Given the description of an element on the screen output the (x, y) to click on. 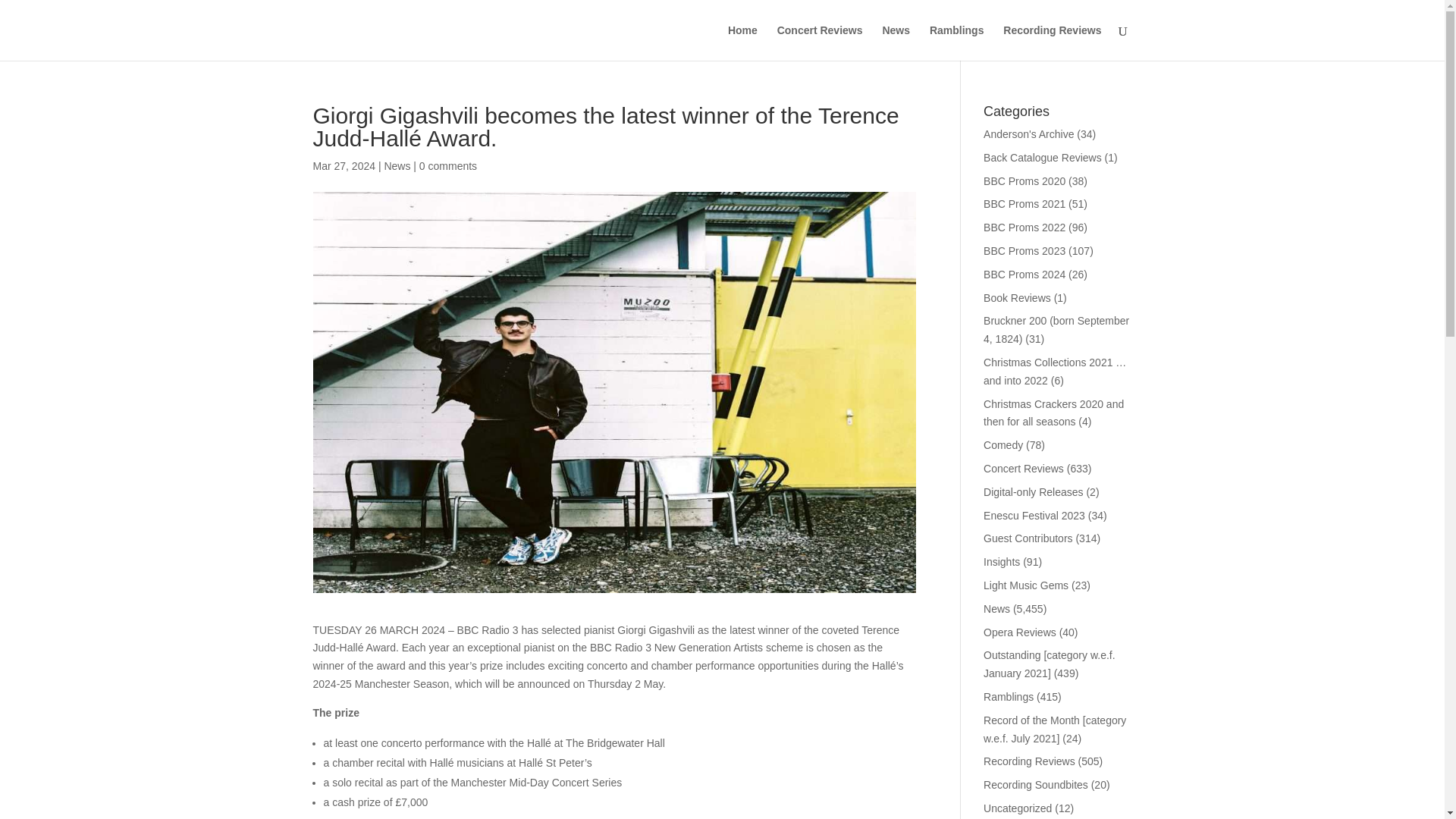
Guest Contributors (1028, 538)
Christmas Crackers 2020 and then for all seasons (1054, 413)
Concert Reviews (1024, 468)
Comedy (1003, 444)
BBC Proms 2024 (1024, 274)
Recording Soundbites (1035, 784)
BBC Proms 2023 (1024, 250)
Book Reviews (1017, 297)
BBC Proms 2020 (1024, 181)
Ramblings (957, 42)
News (397, 165)
Opera Reviews (1020, 632)
Ramblings (1008, 696)
Light Music Gems (1026, 585)
Anderson's Archive (1029, 133)
